Given the description of an element on the screen output the (x, y) to click on. 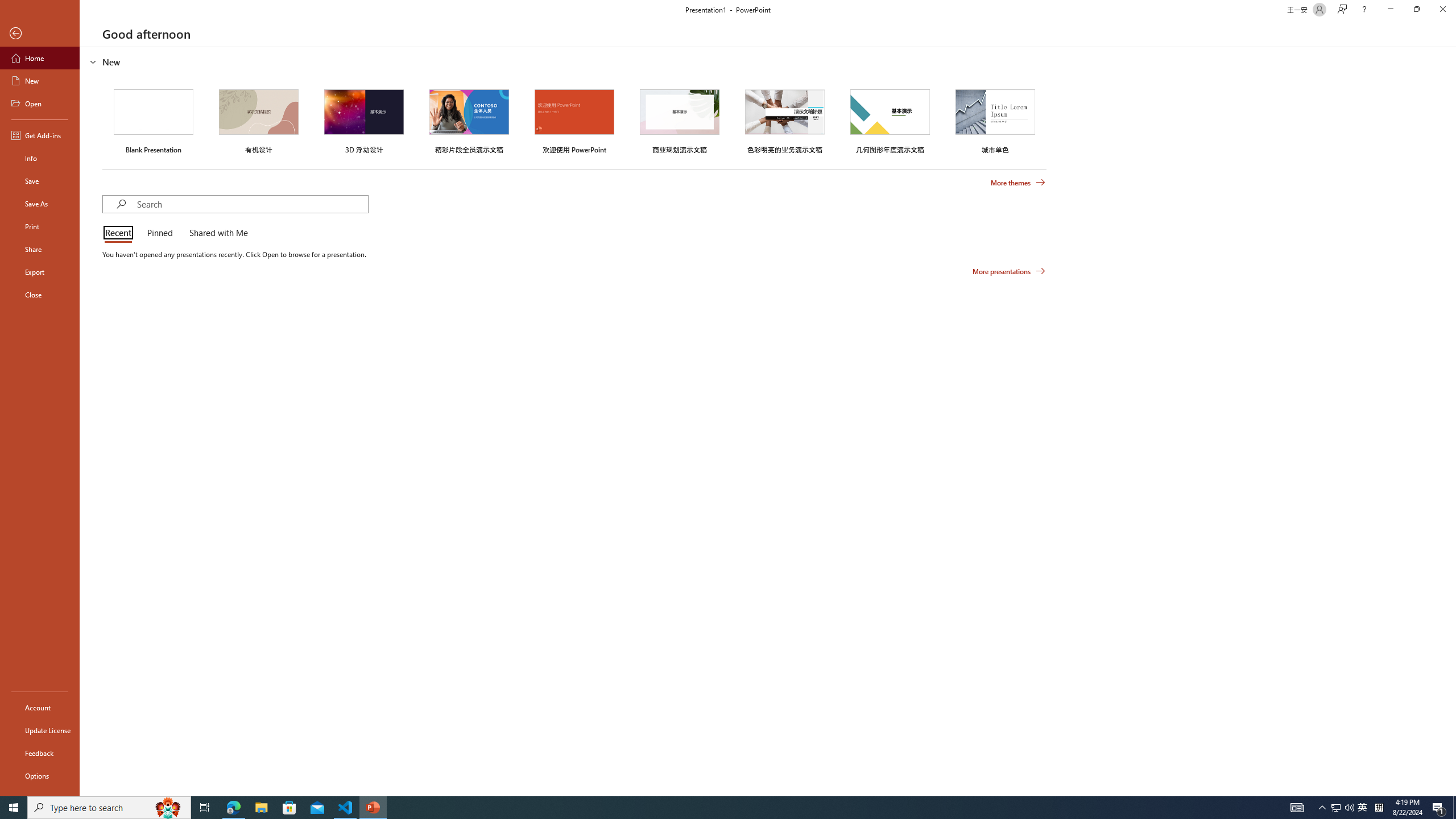
More themes (1018, 182)
Print (40, 225)
More presentations (1008, 270)
Options (40, 775)
Class: NetUIScrollBar (1450, 421)
Export (40, 271)
Update License (40, 730)
